Given the description of an element on the screen output the (x, y) to click on. 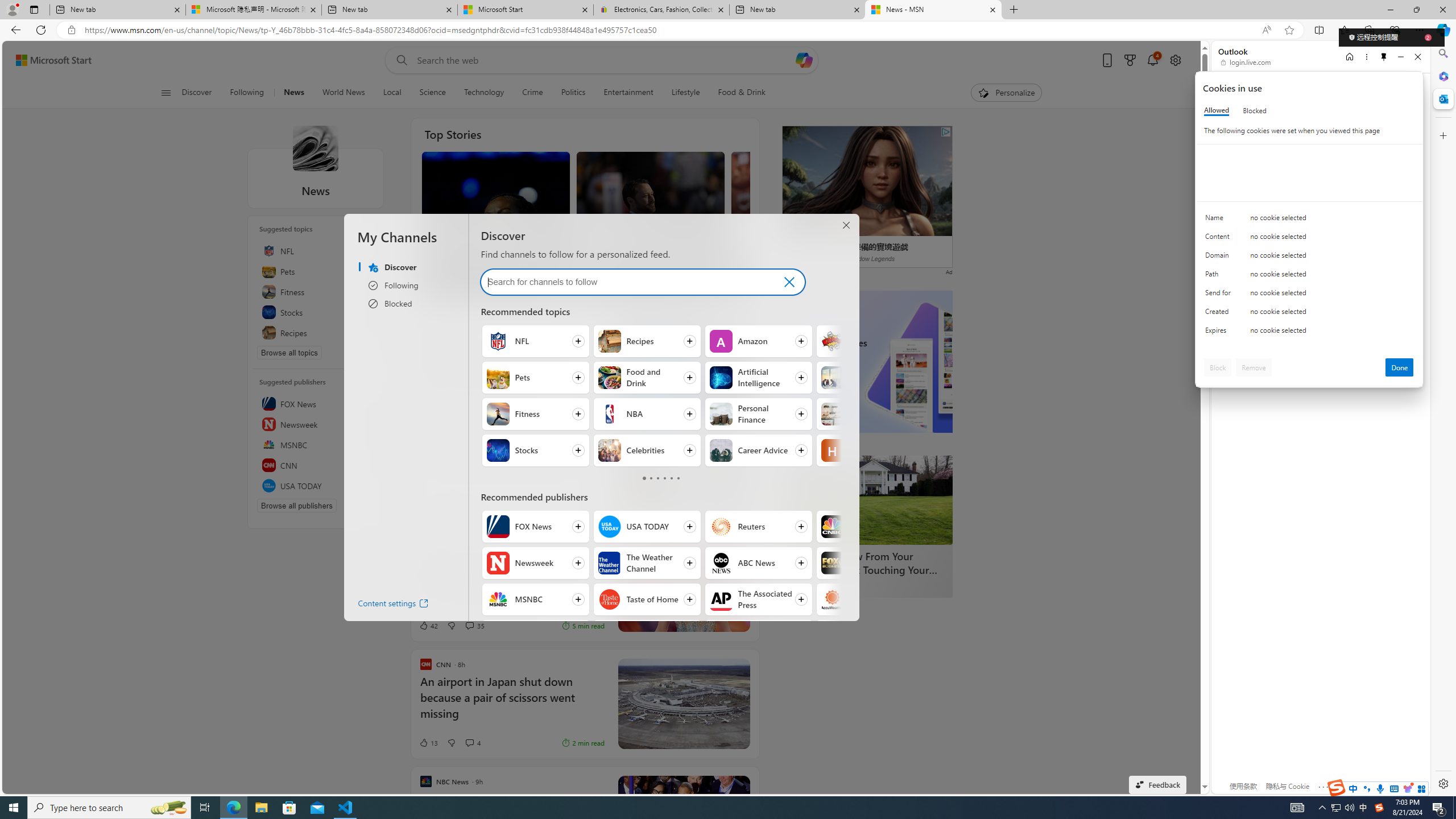
MSNBC (497, 599)
Remove (1253, 367)
Follow CNN (535, 635)
Side bar (1443, 418)
22 Like (427, 410)
Enter your search term (603, 59)
Ad Choice (595, 511)
Follow Recipes (646, 341)
Food & Drink (737, 92)
See more (741, 783)
World News (343, 92)
Business (832, 377)
NBA (609, 413)
Follow FOX News (535, 526)
